Given the description of an element on the screen output the (x, y) to click on. 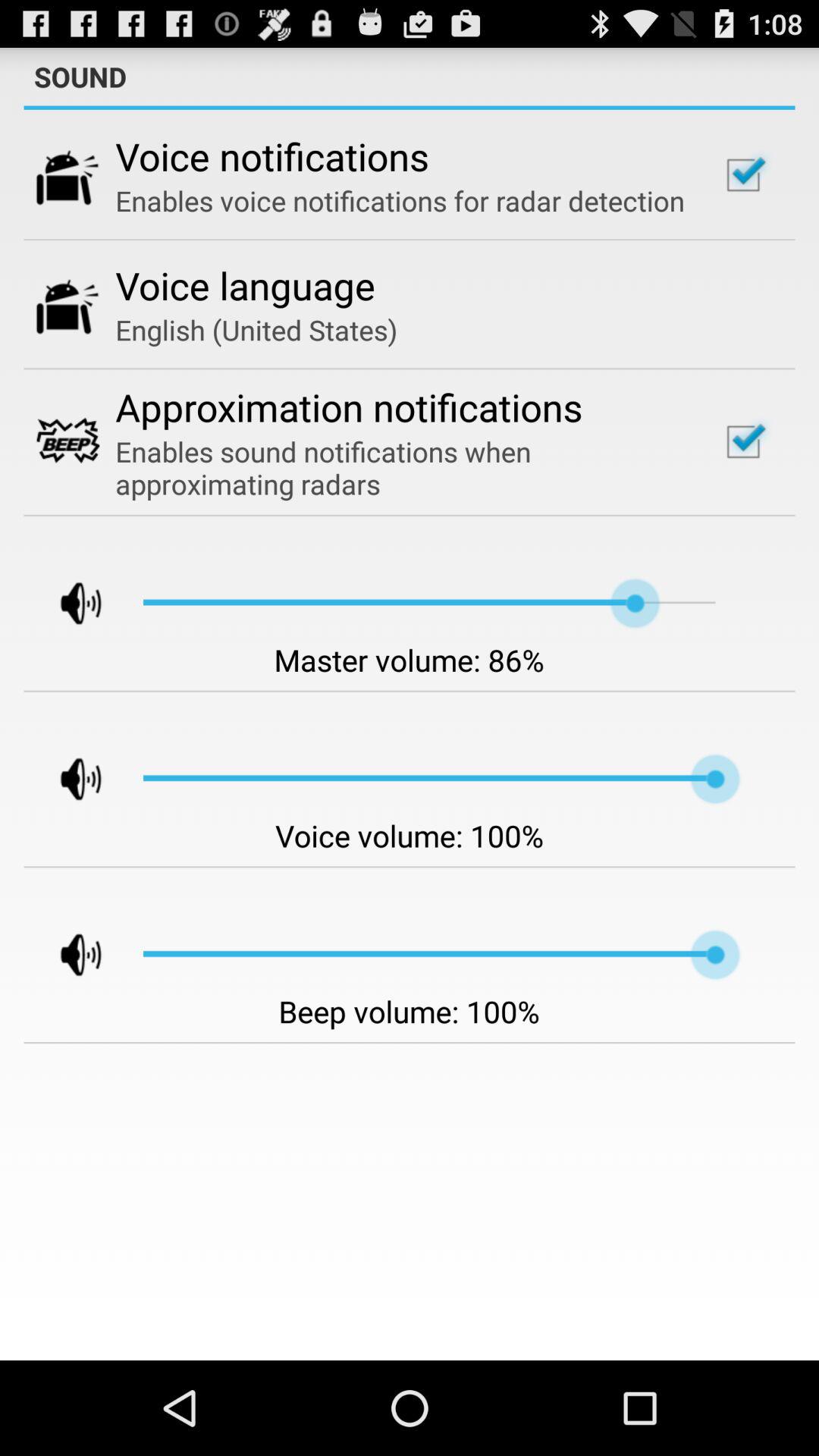
turn off app below voice language app (256, 329)
